Given the description of an element on the screen output the (x, y) to click on. 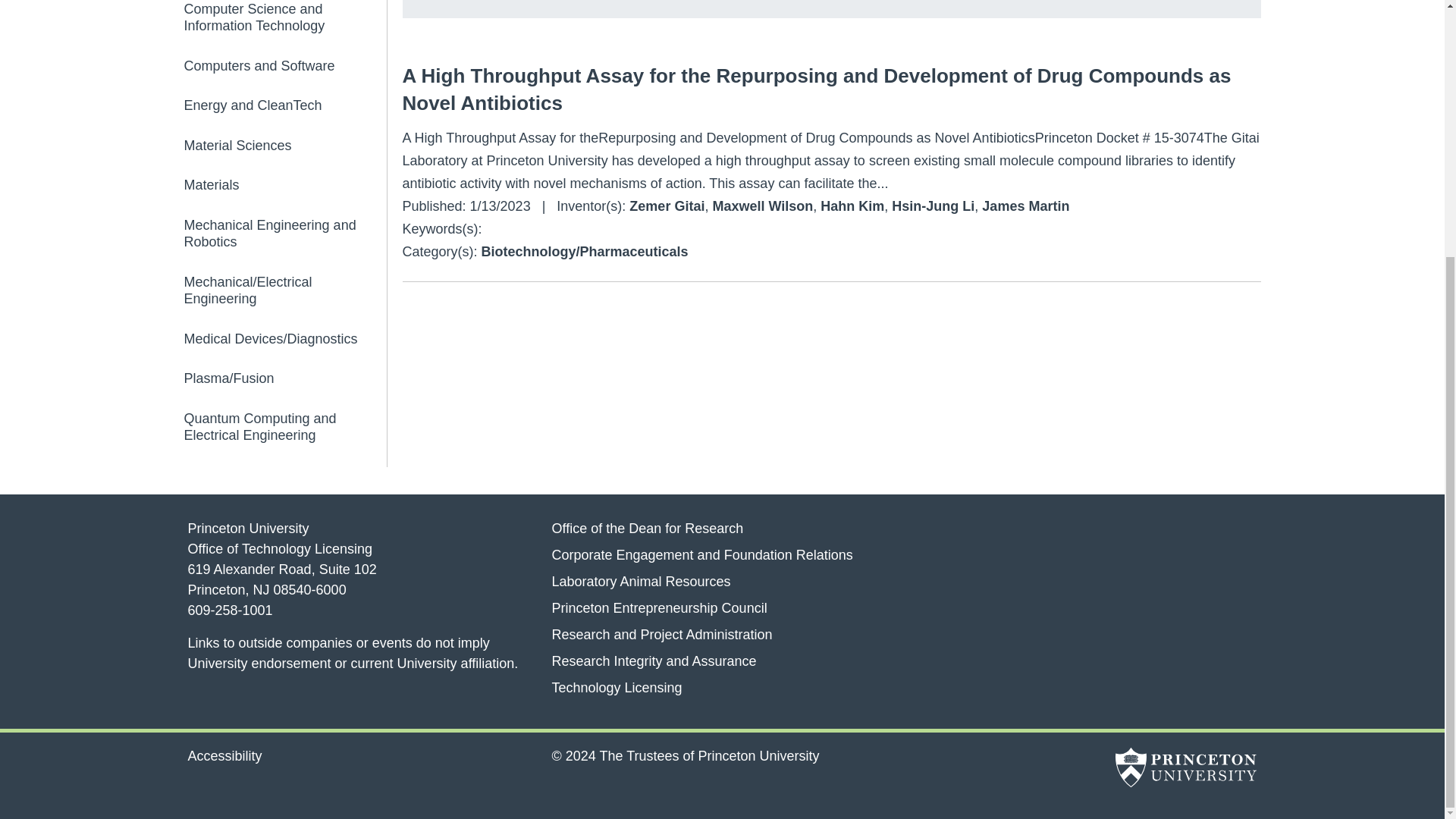
Zemer Gitai (666, 206)
Princeton Entrepreneurship Council (659, 607)
Maxwell Wilson (761, 206)
Office of the Dean for Research (646, 528)
Energy and CleanTech (284, 105)
Research and Project Administration (661, 634)
Quantum Computing and Electrical Engineering (284, 427)
Corporate Engagement and Foundation Relations (701, 554)
Computers and Software (284, 65)
Material Sciences (284, 145)
Accessibility (224, 755)
Hsin-Jung Li (932, 206)
Mechanical Engineering and Robotics (284, 233)
James Martin (1024, 206)
